Given the description of an element on the screen output the (x, y) to click on. 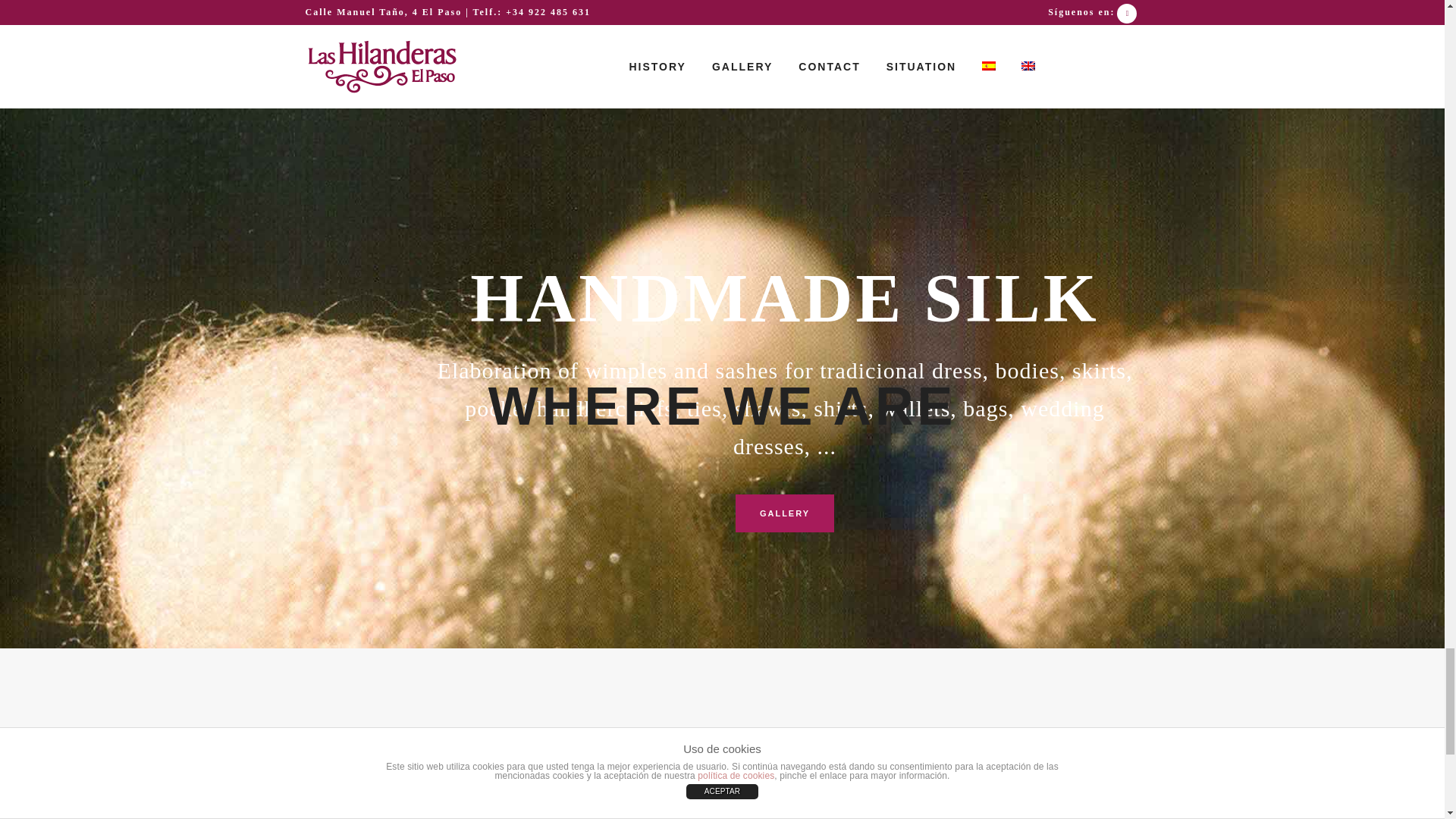
Send (714, 146)
